Given the description of an element on the screen output the (x, y) to click on. 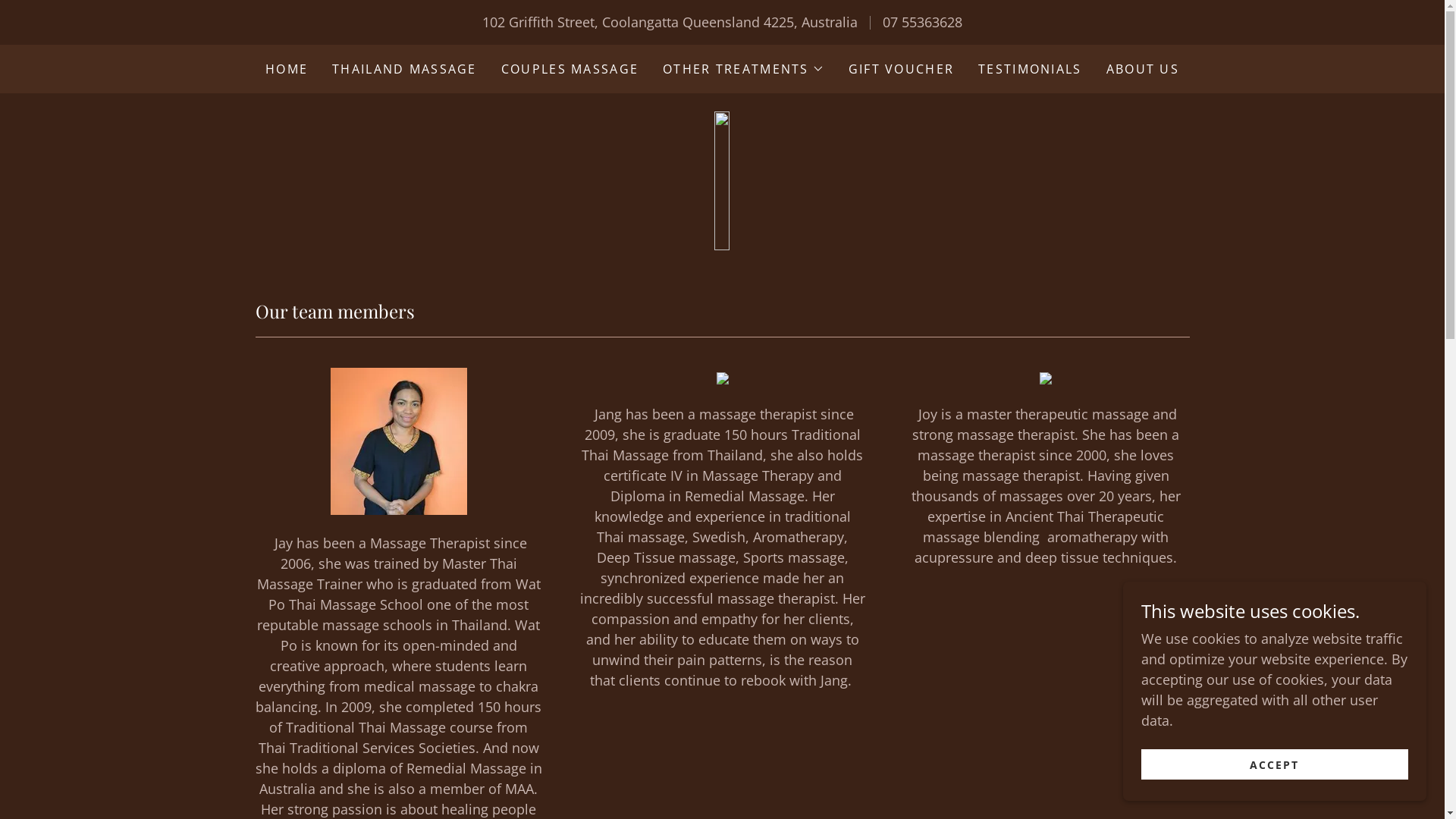
ACCEPT Element type: text (1274, 764)
OTHER TREATMENTS Element type: text (743, 68)
TESTIMONIALS Element type: text (1029, 68)
ABOUT US Element type: text (1142, 68)
GIFT VOUCHER Element type: text (901, 68)
HOME Element type: text (286, 68)
07 55363628 Element type: text (922, 21)
THAILAND MASSAGE Element type: text (404, 68)
COUPLES MASSAGE Element type: text (569, 68)
